Given the description of an element on the screen output the (x, y) to click on. 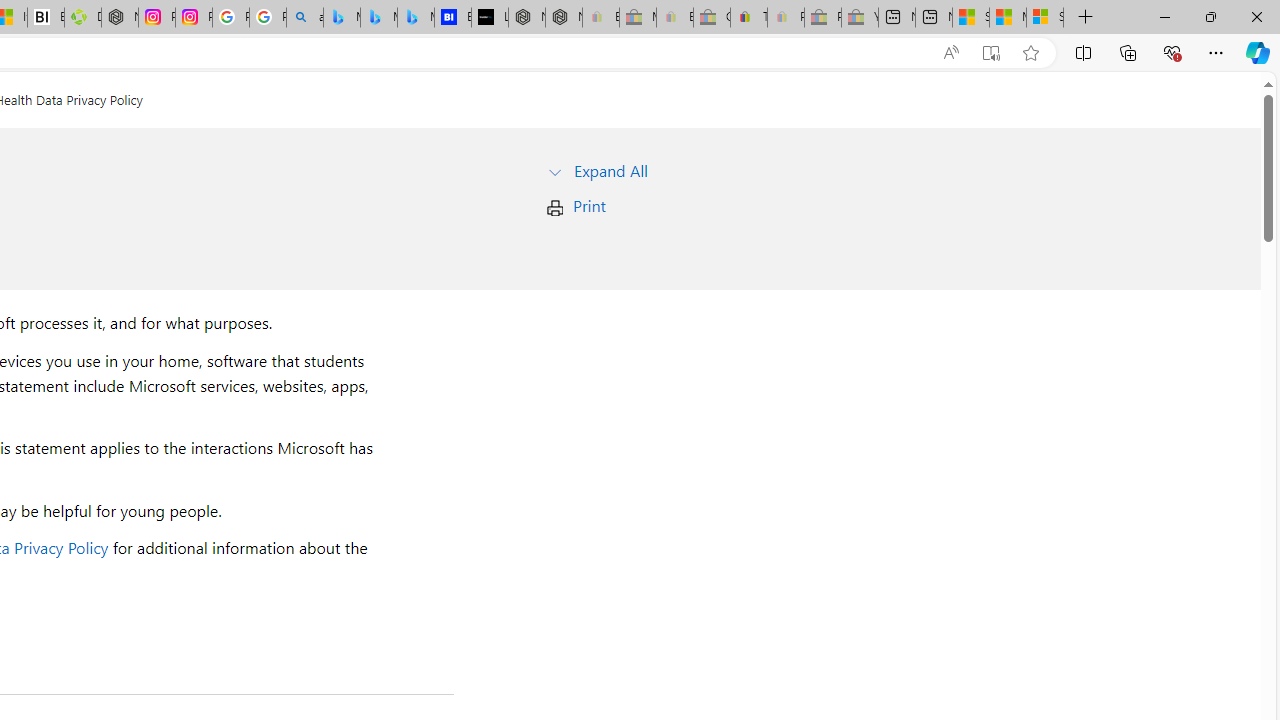
Descarga Driver Updater (83, 17)
Print (589, 205)
Press Room - eBay Inc. - Sleeping (822, 17)
Enter Immersive Reader (F9) (991, 53)
Yard, Garden & Outdoor Living - Sleeping (860, 17)
Expand All (610, 170)
Microsoft Bing Travel - Flights from Hong Kong to Bangkok (341, 17)
